Given the description of an element on the screen output the (x, y) to click on. 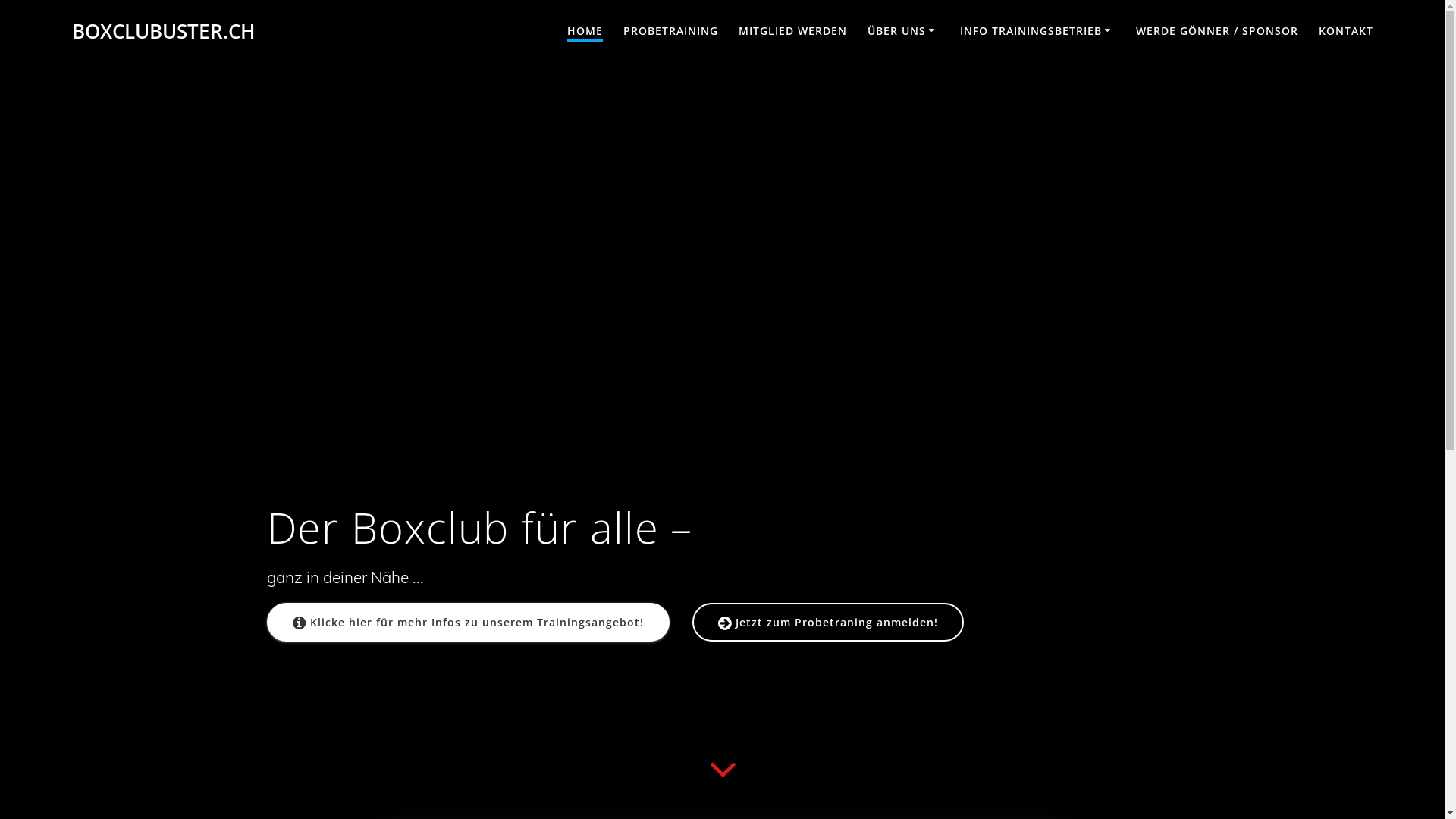
KONTAKT Element type: text (1345, 31)
Jetzt zum Probetraning anmelden! Element type: text (827, 621)
PROBETRAINING Element type: text (670, 31)
INFO TRAININGSBETRIEB Element type: text (1037, 31)
MITGLIED WERDEN Element type: text (792, 31)
HOME Element type: text (584, 31)
BOXCLUBUSTER.CH Element type: text (163, 31)
